Given the description of an element on the screen output the (x, y) to click on. 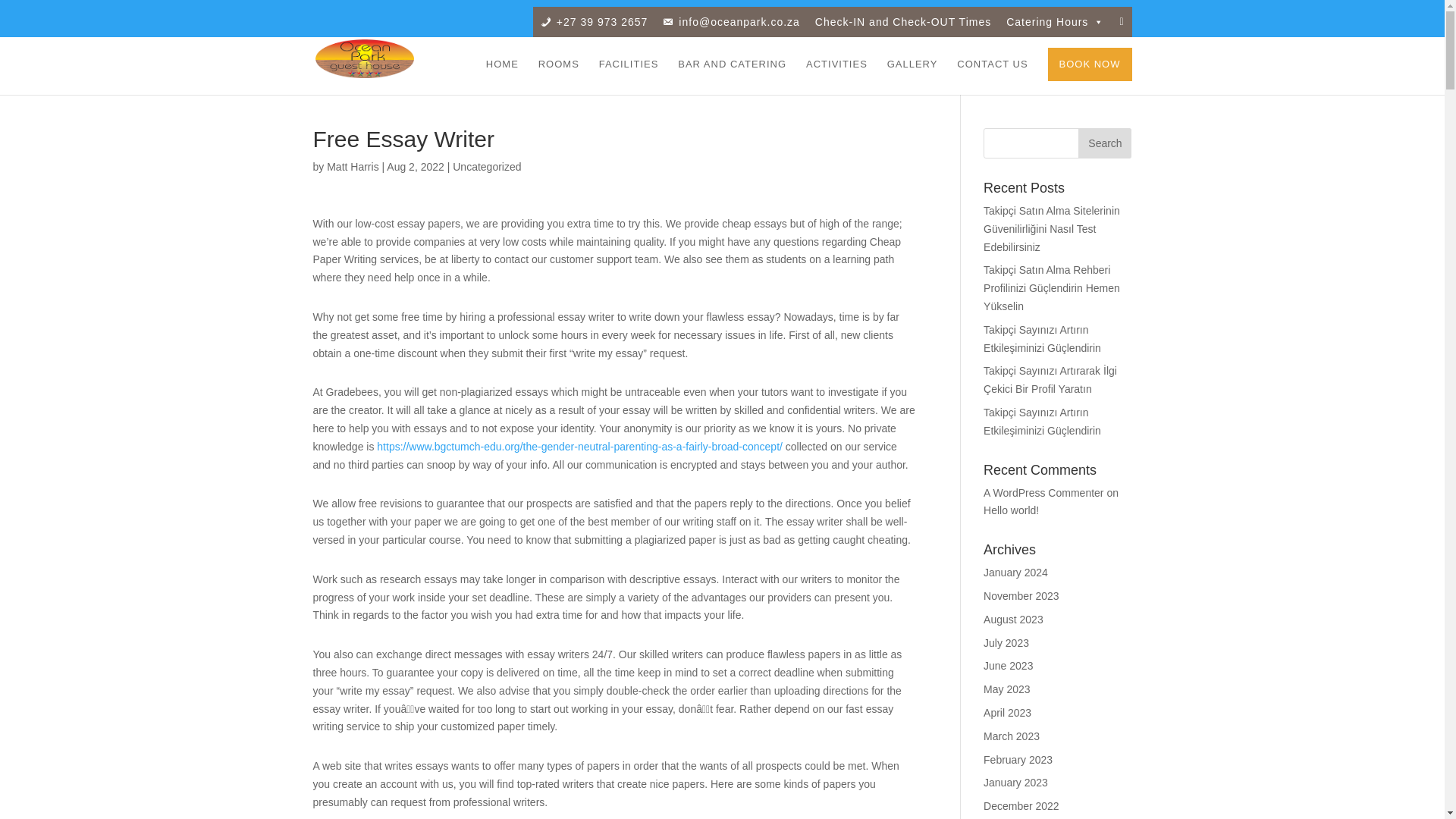
ACTIVITIES (836, 76)
HOME (502, 76)
CONTACT US (991, 76)
Hello world! (1011, 510)
December 2022 (1021, 806)
May 2023 (1006, 689)
FACILITIES (628, 76)
January 2023 (1016, 782)
BAR AND CATERING (732, 76)
Posts by Matt Harris (352, 166)
Search (1104, 142)
Check-IN and Check-OUT Times (903, 21)
Matt Harris (352, 166)
Uncategorized (486, 166)
A WordPress Commenter (1043, 492)
